Given the description of an element on the screen output the (x, y) to click on. 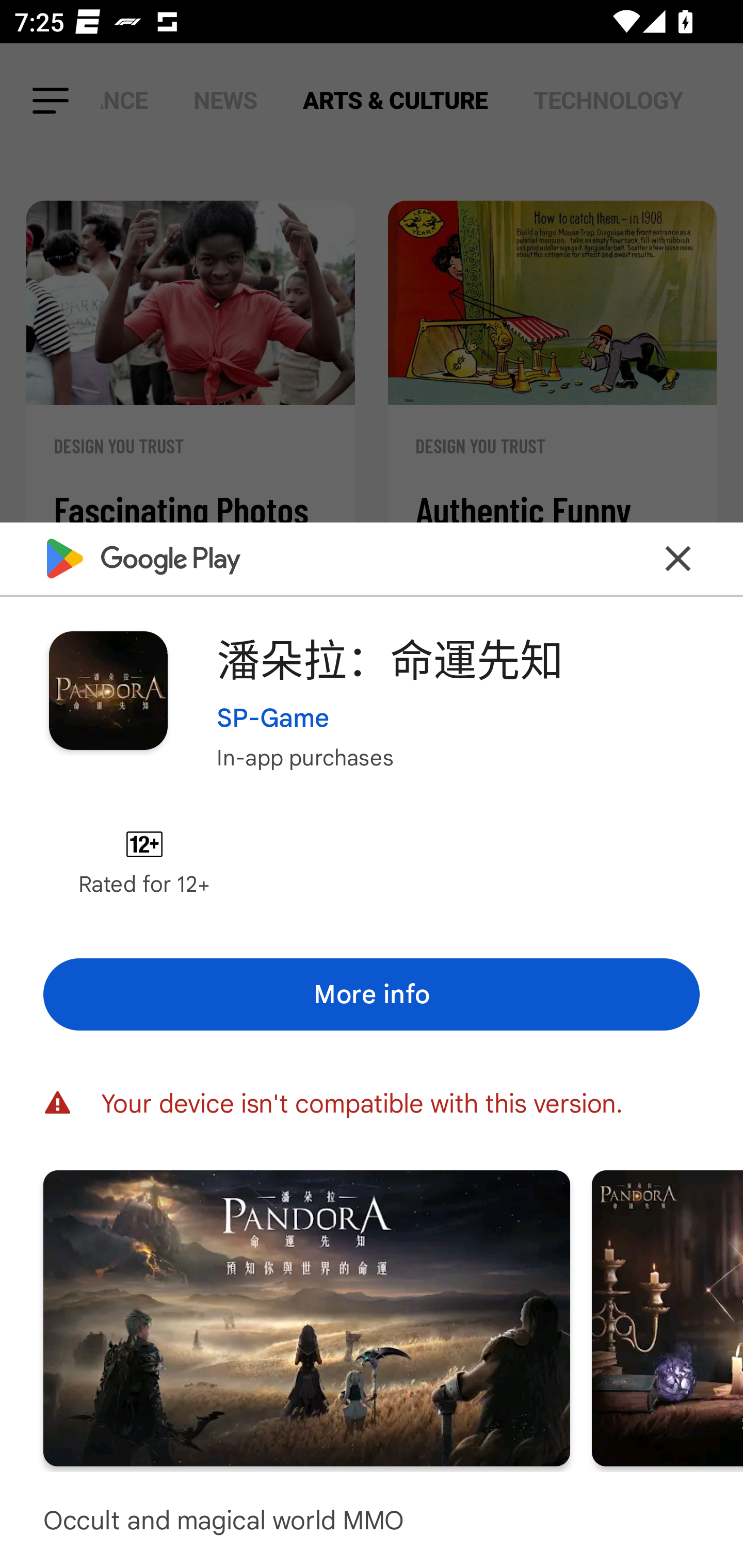
Close (677, 558)
Image of app or game icon for 潘朵拉：命運先知 (108, 690)
SP-Game (272, 716)
More info (371, 994)
Screenshot "1" of "6" (306, 1317)
